Given the description of an element on the screen output the (x, y) to click on. 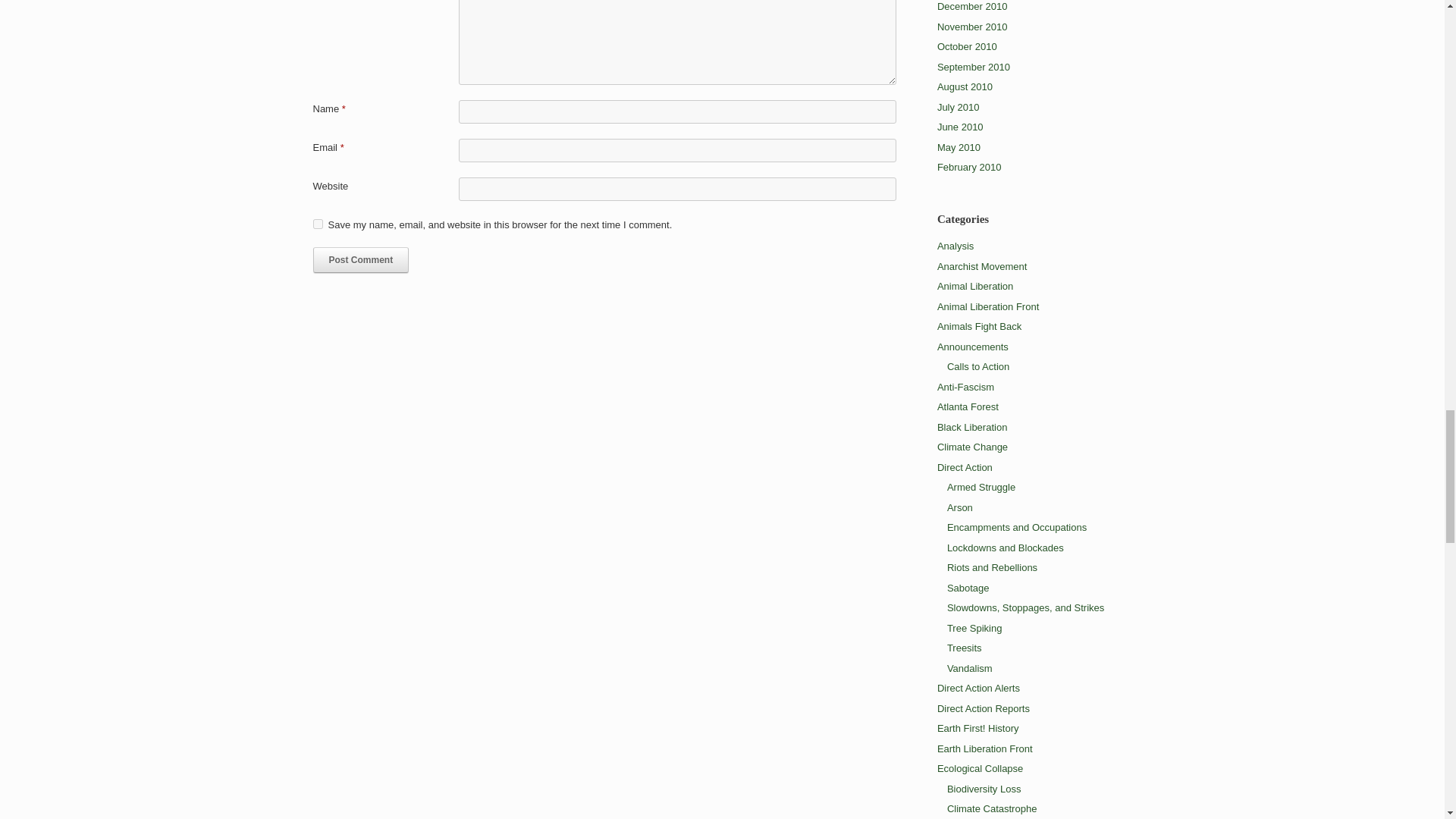
Post Comment (361, 259)
Post Comment (361, 259)
yes (317, 224)
